Given the description of an element on the screen output the (x, y) to click on. 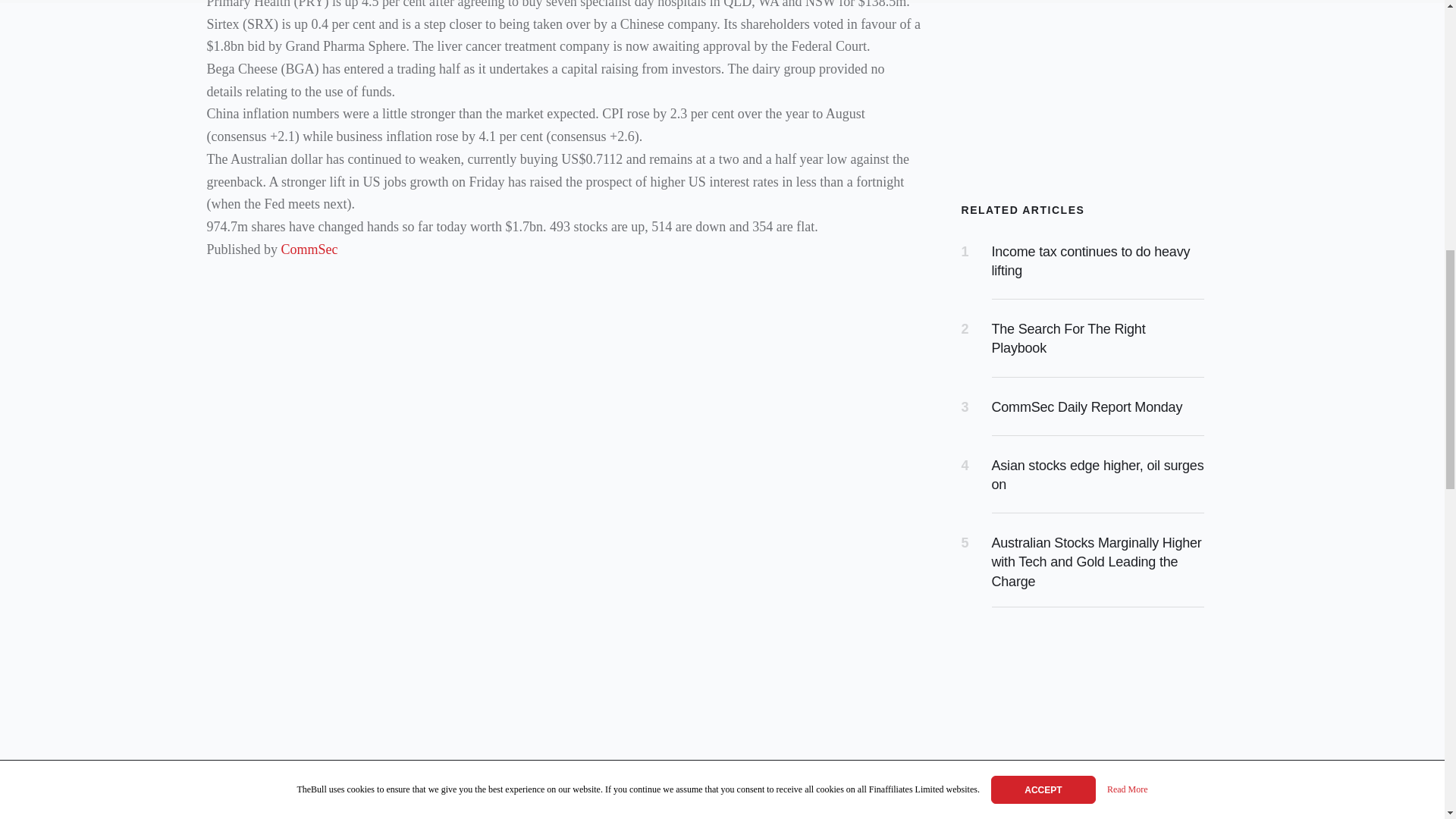
Asian stocks edge higher, oil surges on (1097, 474)
The Search For The Right Playbook (1068, 338)
Income tax continues to do heavy lifting (1091, 261)
CommSec (309, 249)
CommSec Daily Report Monday (1086, 406)
CommSec Daily Report Monday (1086, 406)
Income tax continues to do heavy lifting (1091, 261)
Asian stocks edge higher, oil surges on (1097, 474)
